Given the description of an element on the screen output the (x, y) to click on. 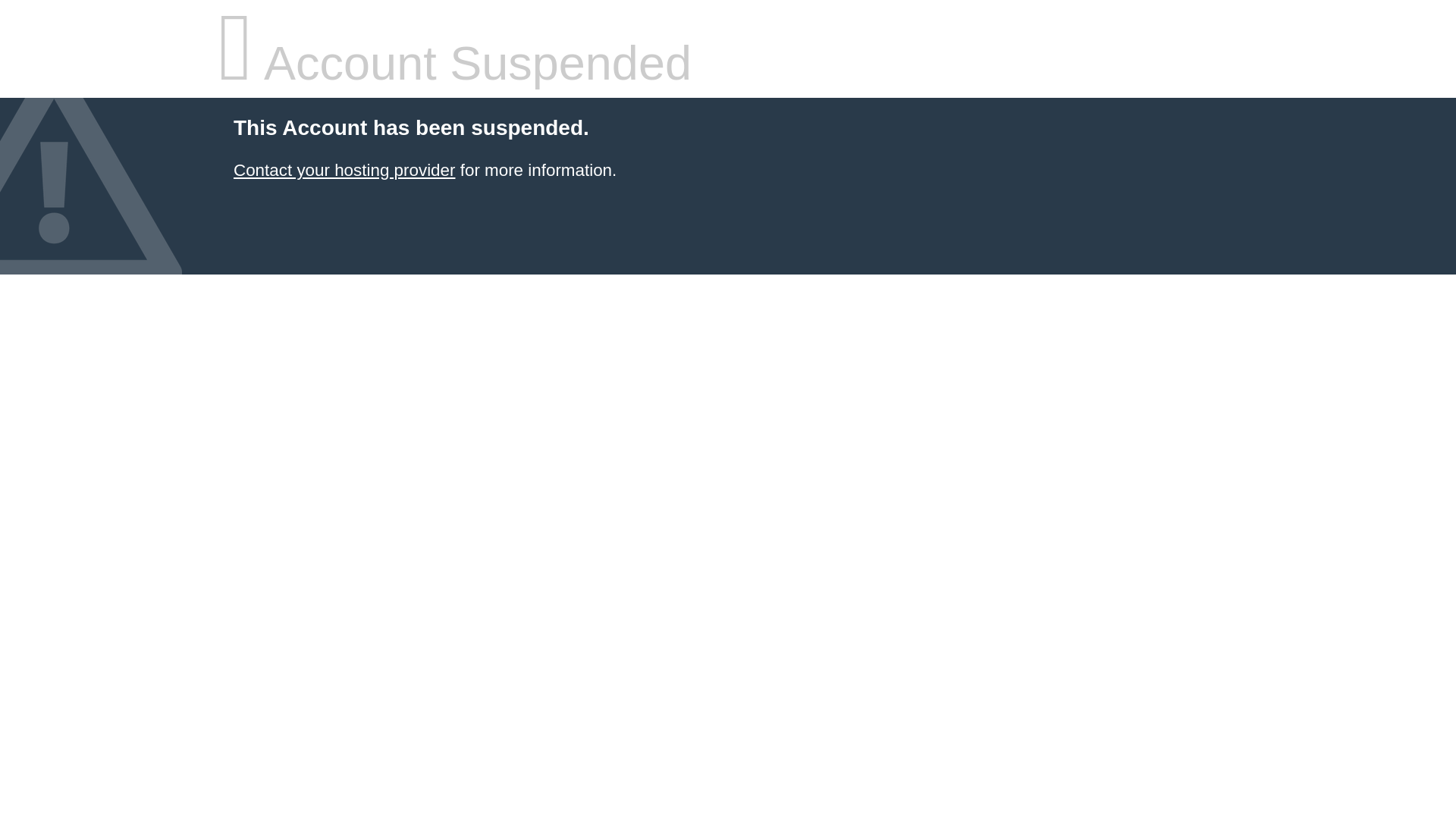
Contact your hosting provider (343, 169)
